Given the description of an element on the screen output the (x, y) to click on. 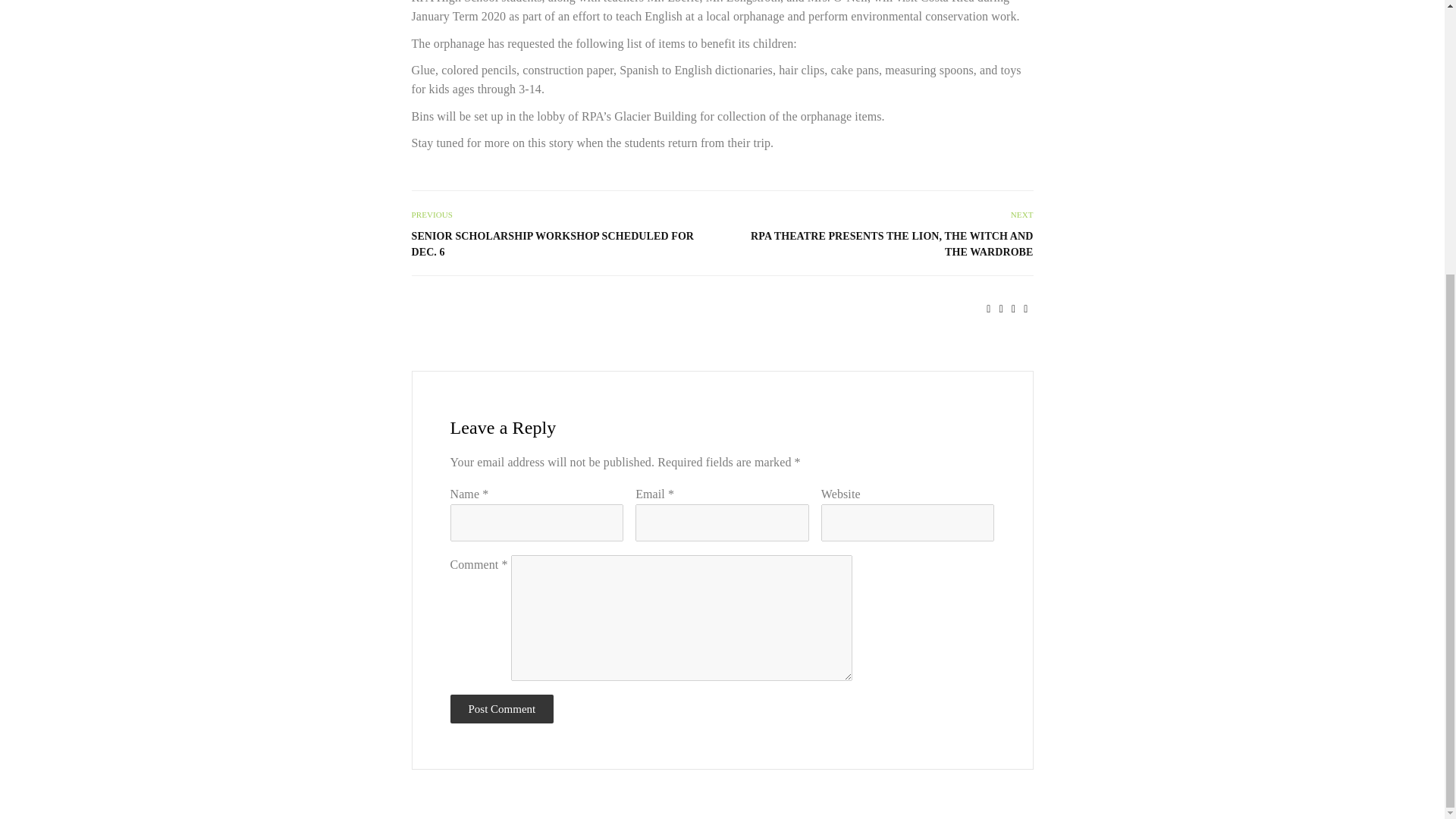
Post Comment (501, 708)
Post Comment (501, 708)
RPA THEATRE PRESENTS THE LION, THE WITCH AND THE WARDROBE (884, 244)
SENIOR SCHOLARSHIP WORKSHOP SCHEDULED FOR DEC. 6 (558, 244)
